Given the description of an element on the screen output the (x, y) to click on. 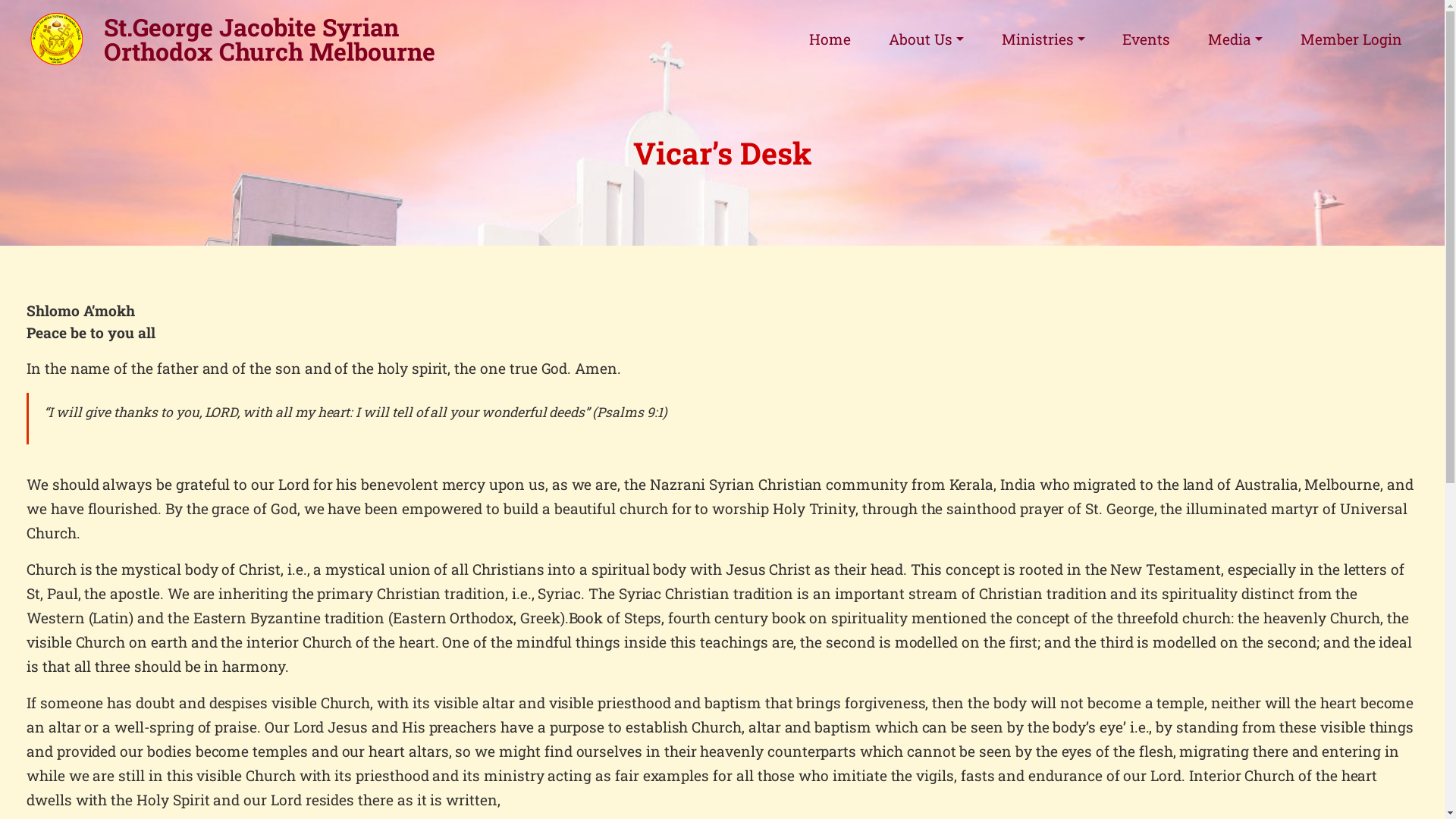
Home Element type: text (829, 39)
St.George Jacobite Syrian Orthodox Church Melbourne Element type: text (308, 39)
Events Element type: text (1146, 39)
Member Login Element type: text (1350, 39)
About Us Element type: text (925, 39)
Ministries Element type: text (1042, 39)
Media Element type: text (1235, 39)
